Given the description of an element on the screen output the (x, y) to click on. 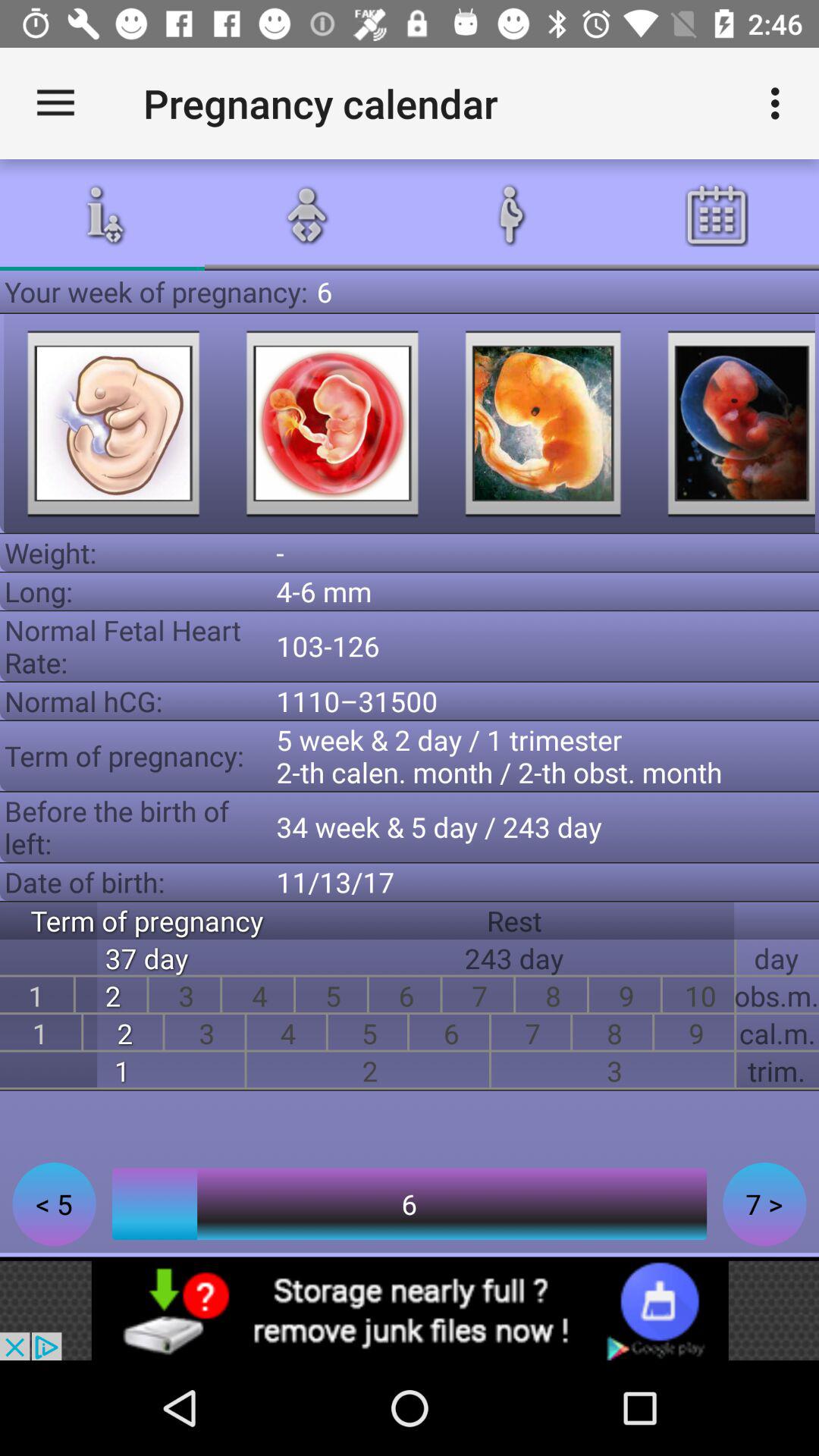
screen page (731, 422)
